Given the description of an element on the screen output the (x, y) to click on. 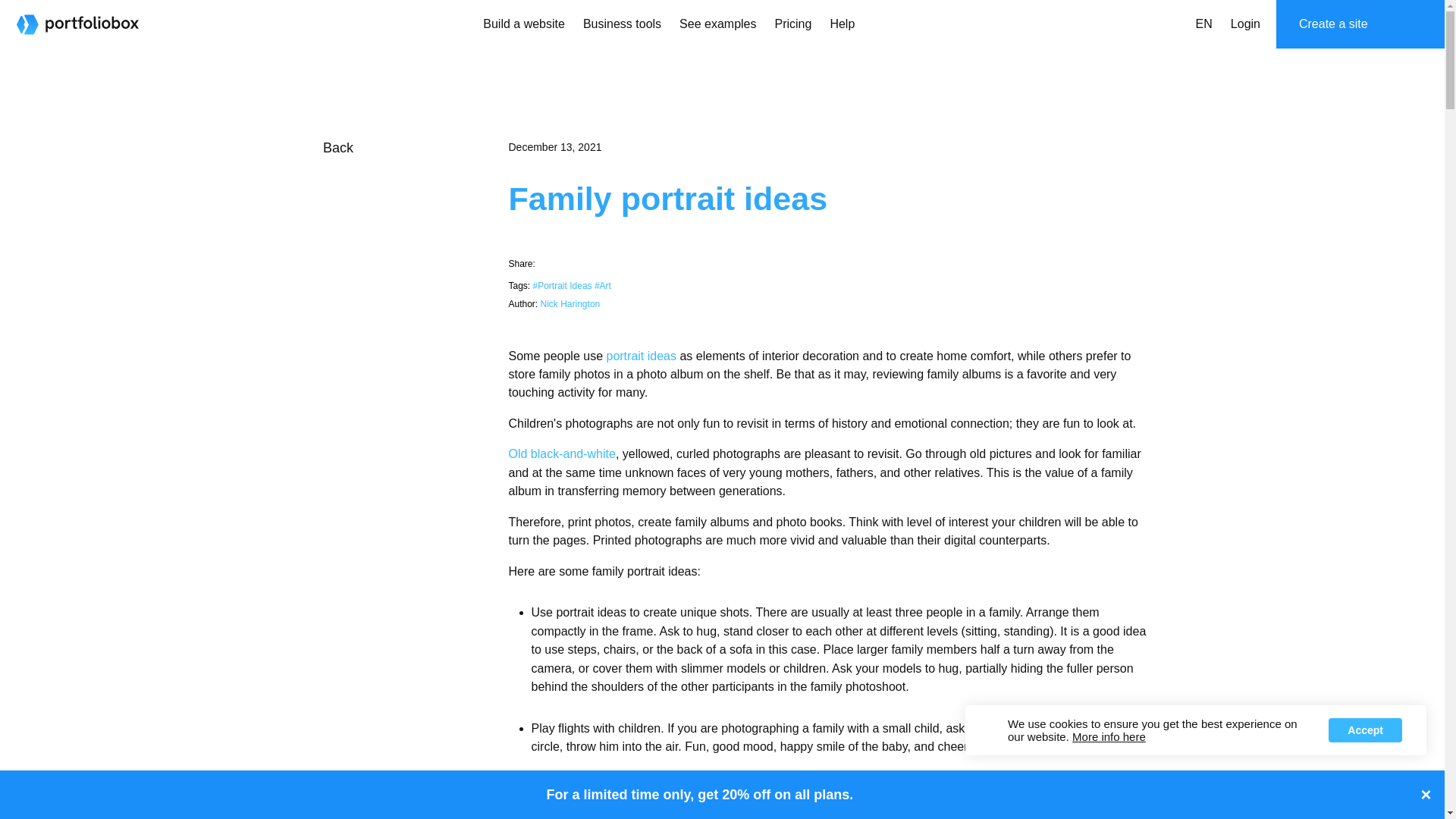
Build a website (523, 24)
EN (1203, 24)
See examples (717, 24)
Business tools (621, 24)
Help (842, 24)
Pricing (793, 24)
